Given the description of an element on the screen output the (x, y) to click on. 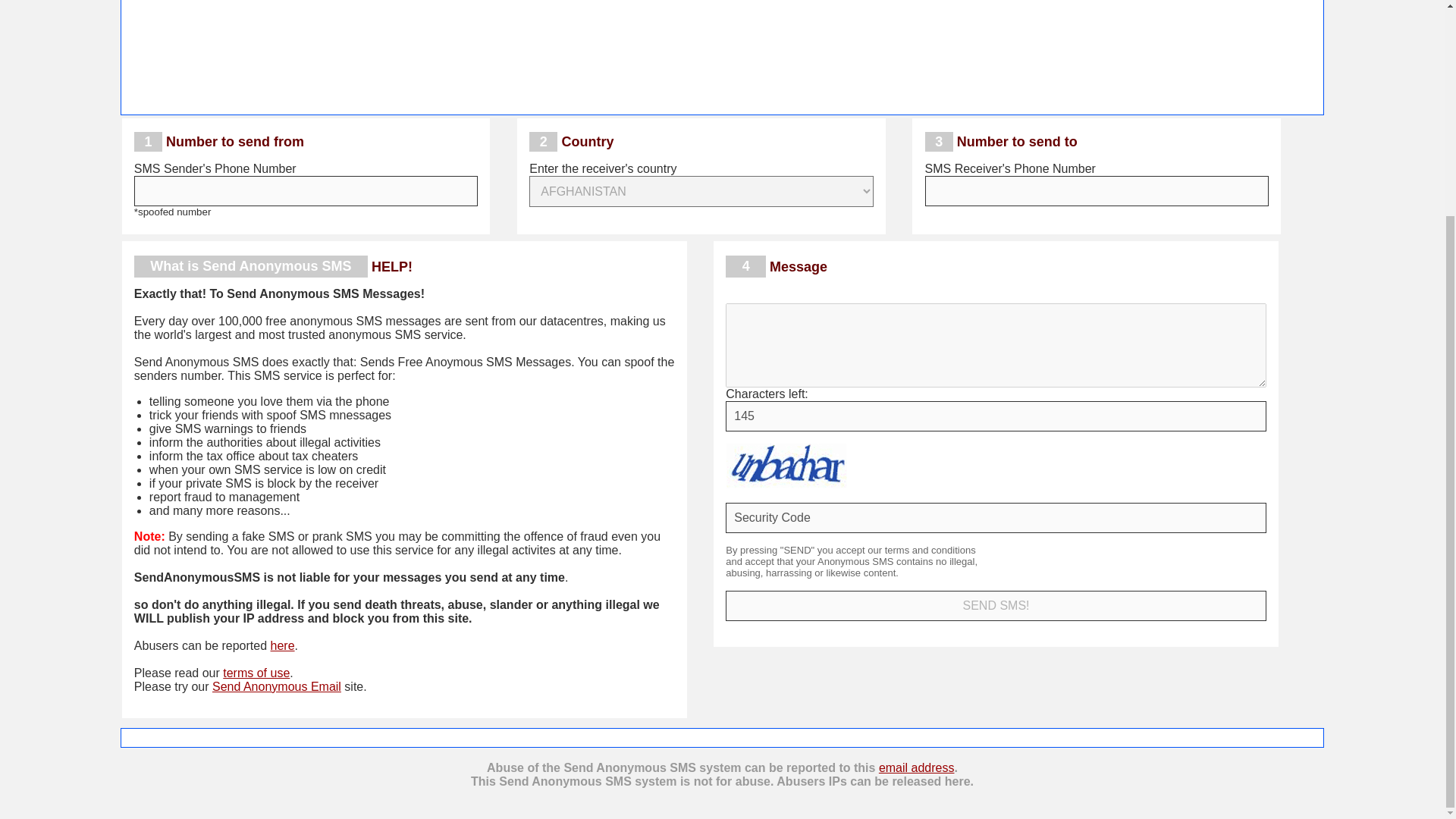
Advertisement (721, 52)
145 (995, 416)
here (282, 645)
email address (917, 767)
Send Anonymous Email (276, 686)
terms of use (255, 672)
SEND SMS! (995, 605)
Security Code (995, 517)
SEND SMS! (995, 605)
